Given the description of an element on the screen output the (x, y) to click on. 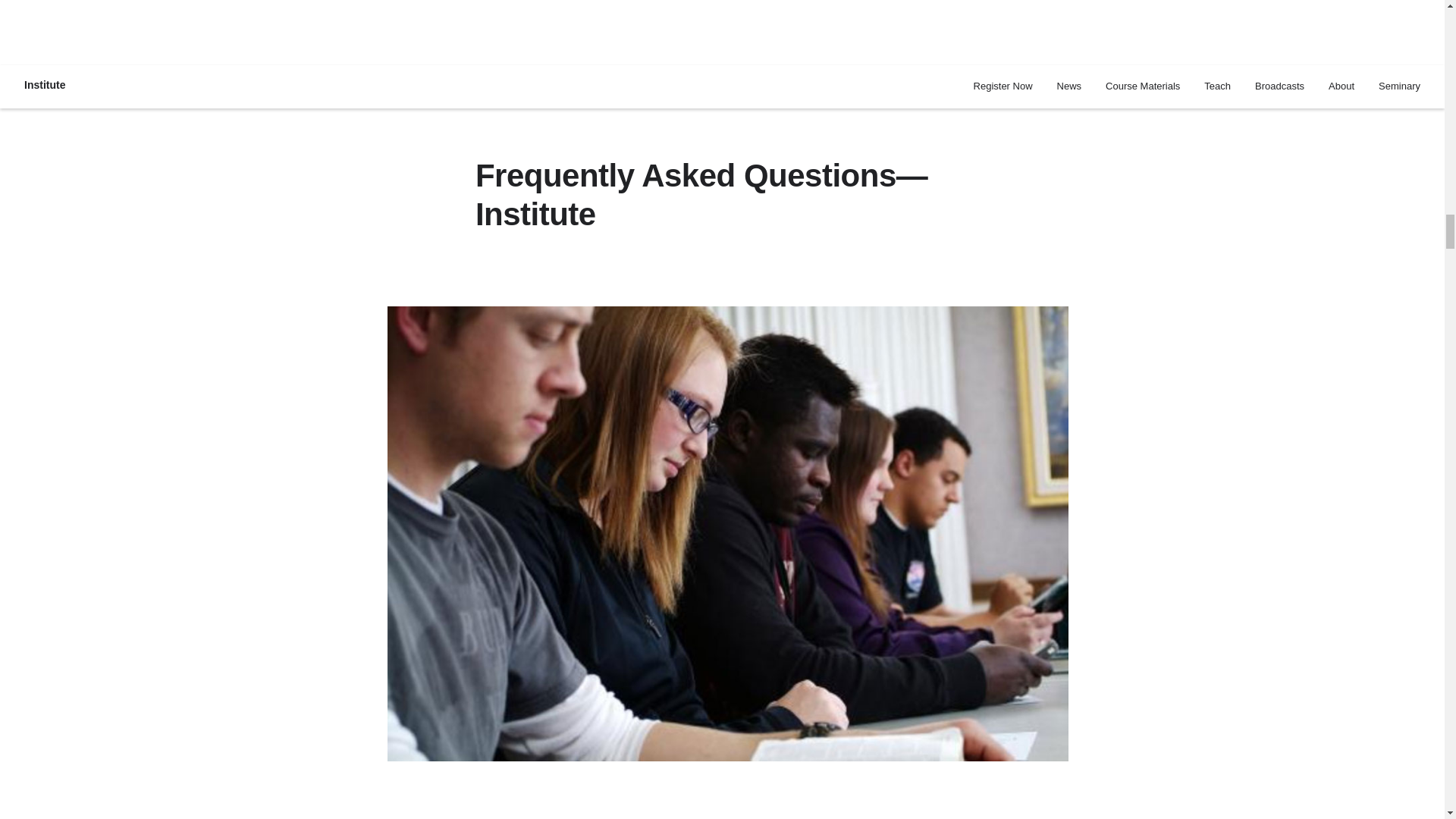
Course Materials (1142, 86)
Broadcasts (1279, 86)
Institute (44, 86)
News (1069, 86)
About (1340, 86)
Seminary (1399, 86)
Teach (1217, 86)
Register Now (1003, 86)
